Given the description of an element on the screen output the (x, y) to click on. 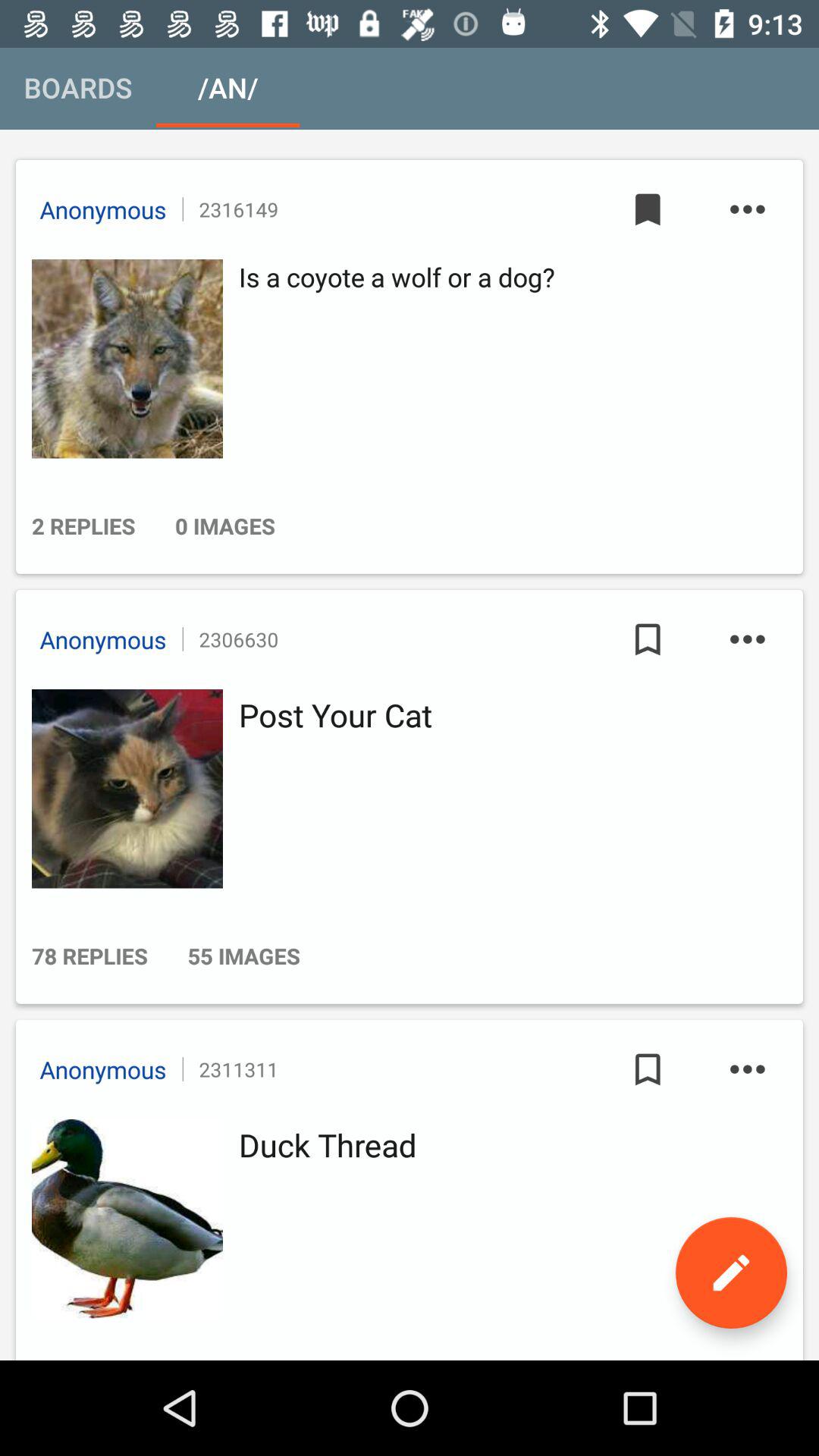
choose the item above post your cat (747, 639)
